Given the description of an element on the screen output the (x, y) to click on. 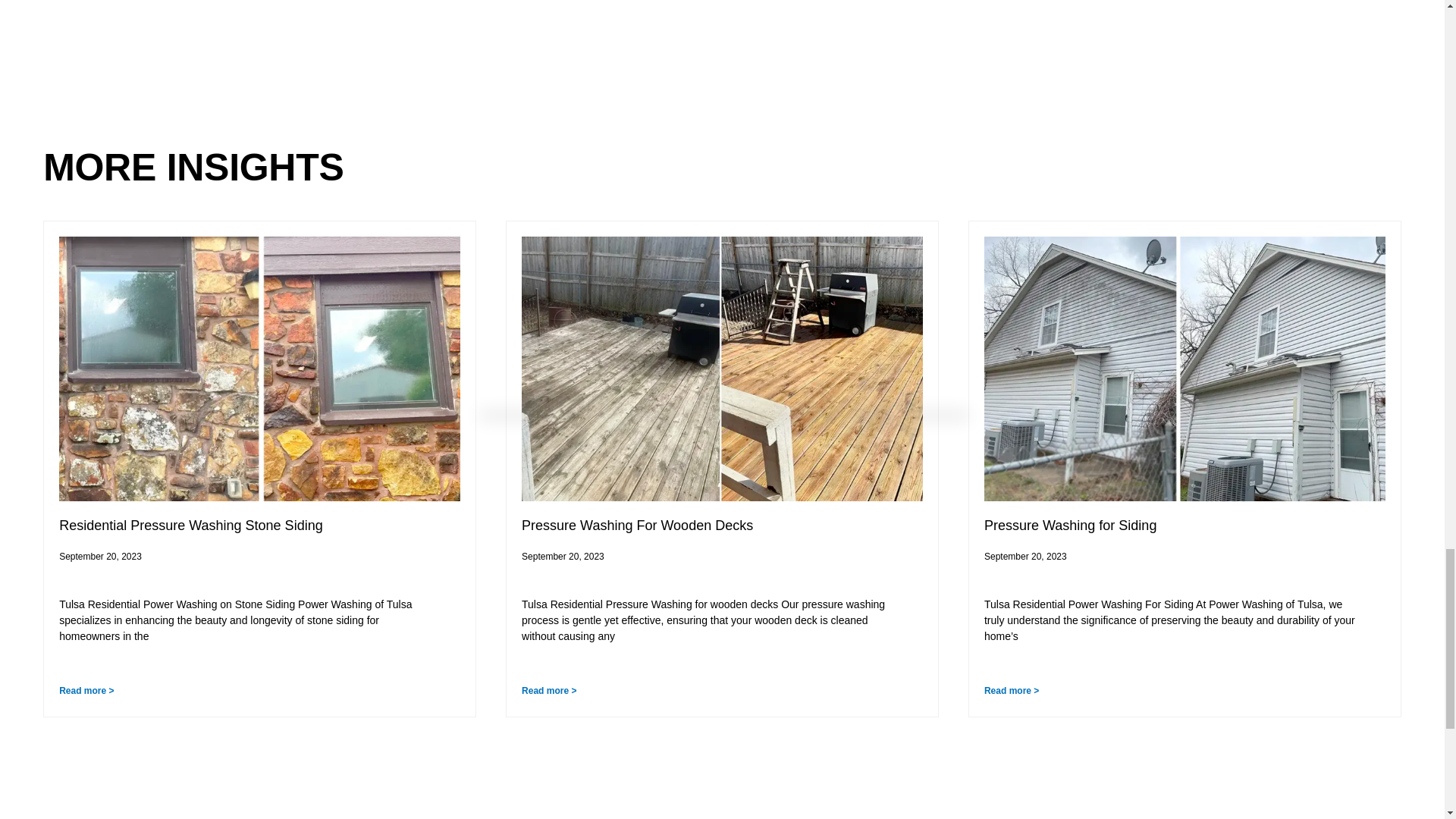
Residential Pressure Washing Stone Siding  (192, 525)
Pressure Washing for Siding (1070, 525)
Pressure Washing For Wooden Decks (636, 525)
